Given the description of an element on the screen output the (x, y) to click on. 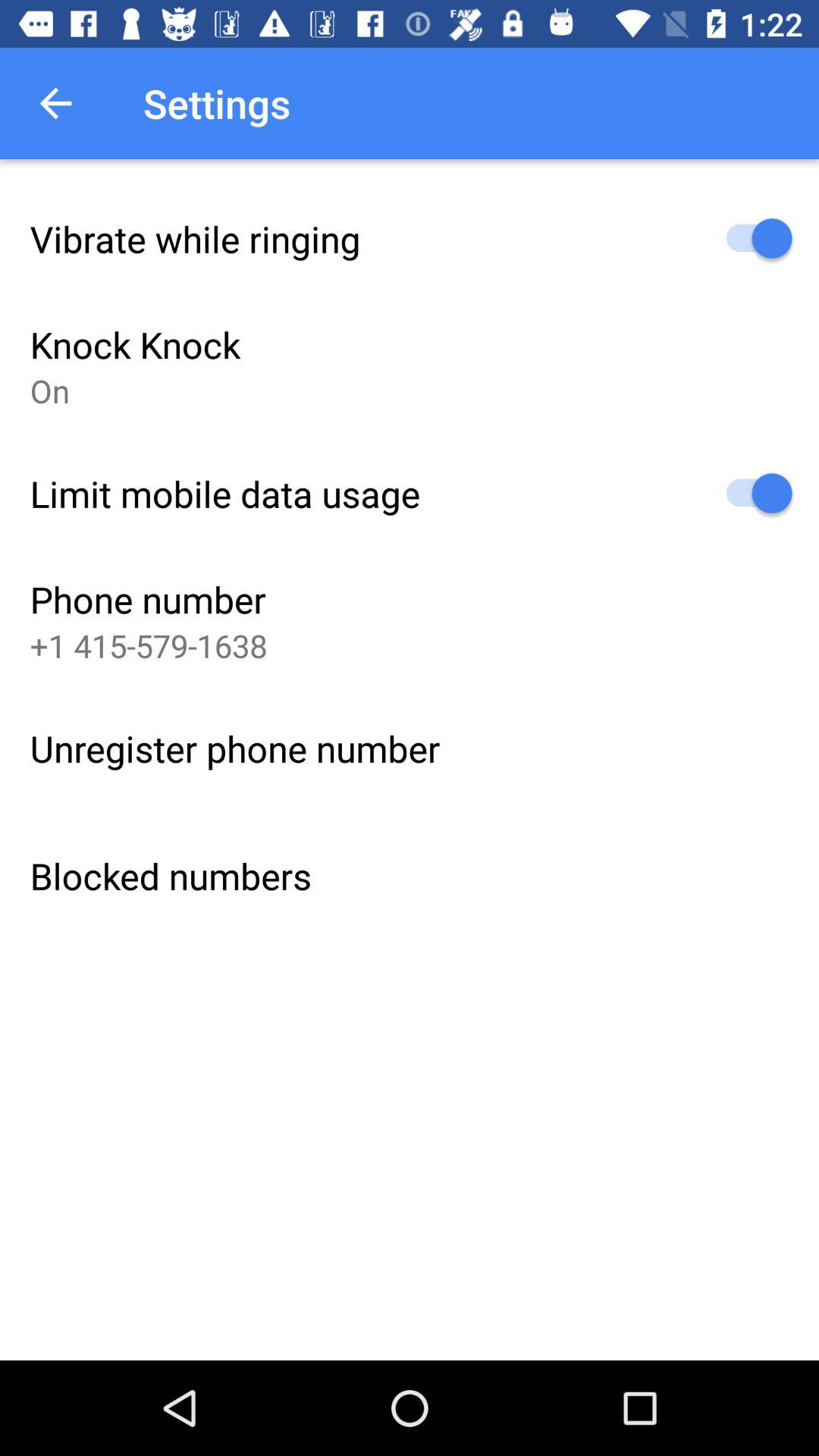
scroll to knock knock (135, 344)
